Given the description of an element on the screen output the (x, y) to click on. 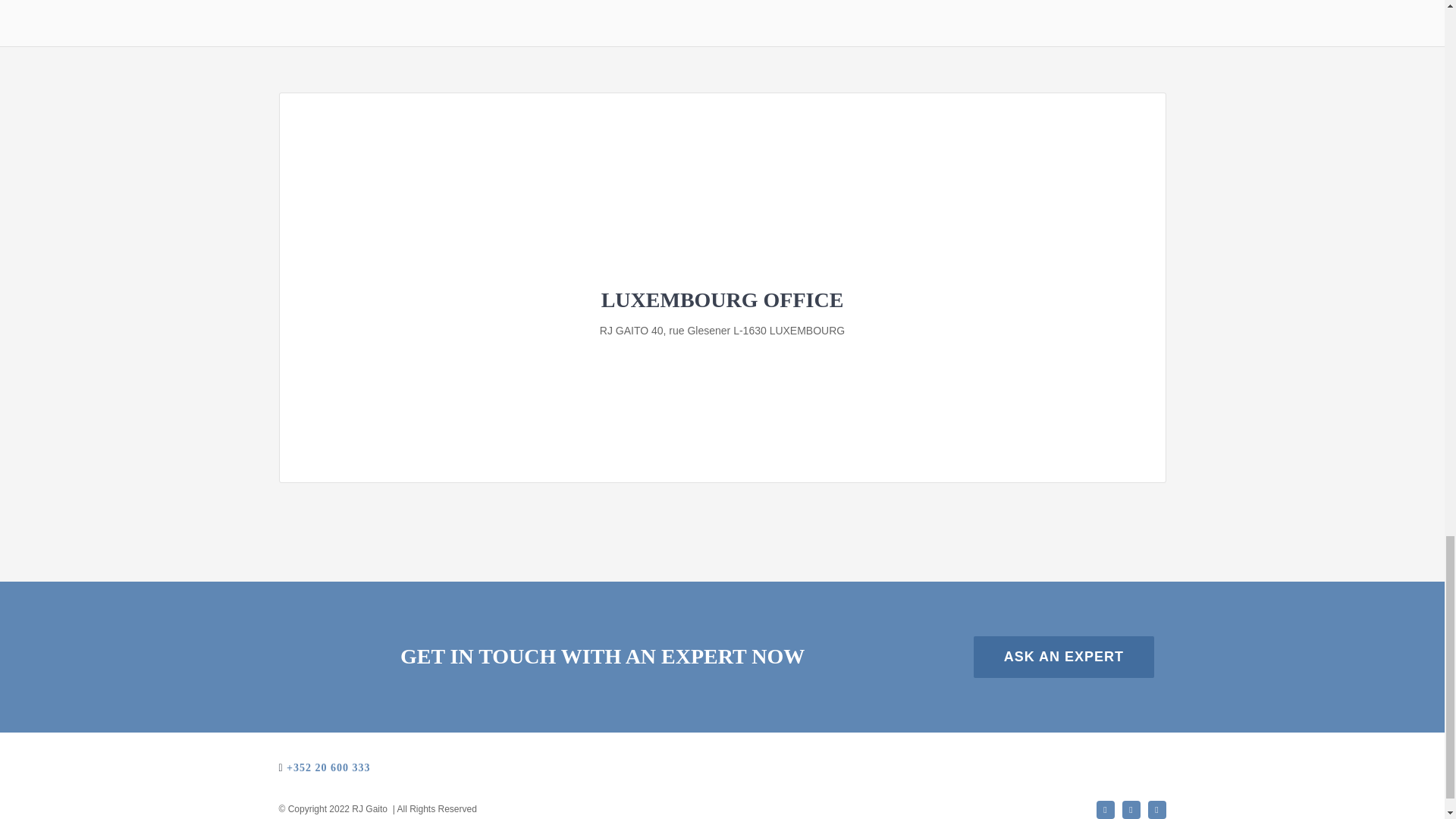
ASK AN EXPERT (1064, 657)
